Given the description of an element on the screen output the (x, y) to click on. 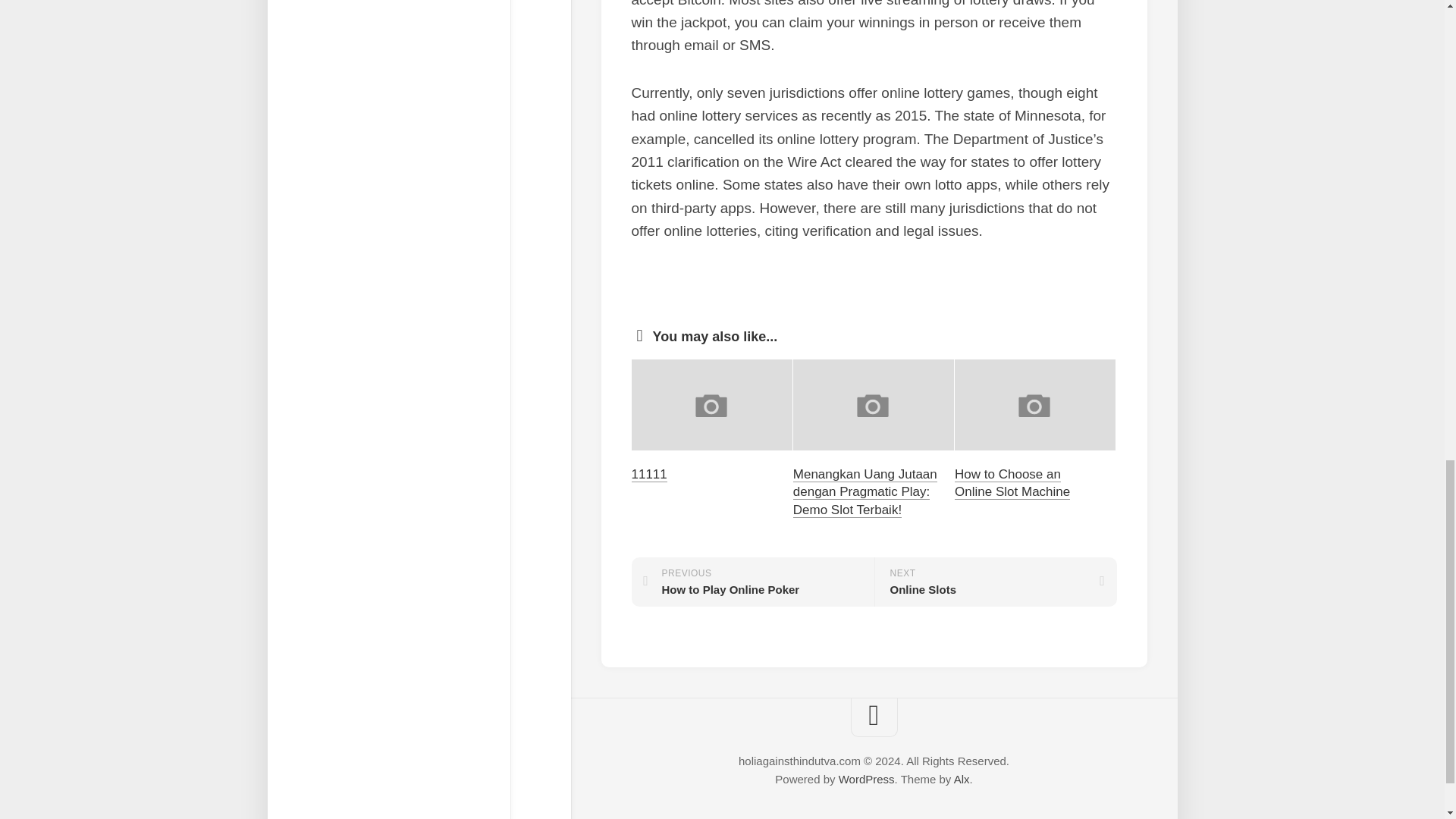
Alx (994, 581)
11111 (961, 779)
How to Choose an Online Slot Machine (648, 473)
WordPress (1012, 482)
